Given the description of an element on the screen output the (x, y) to click on. 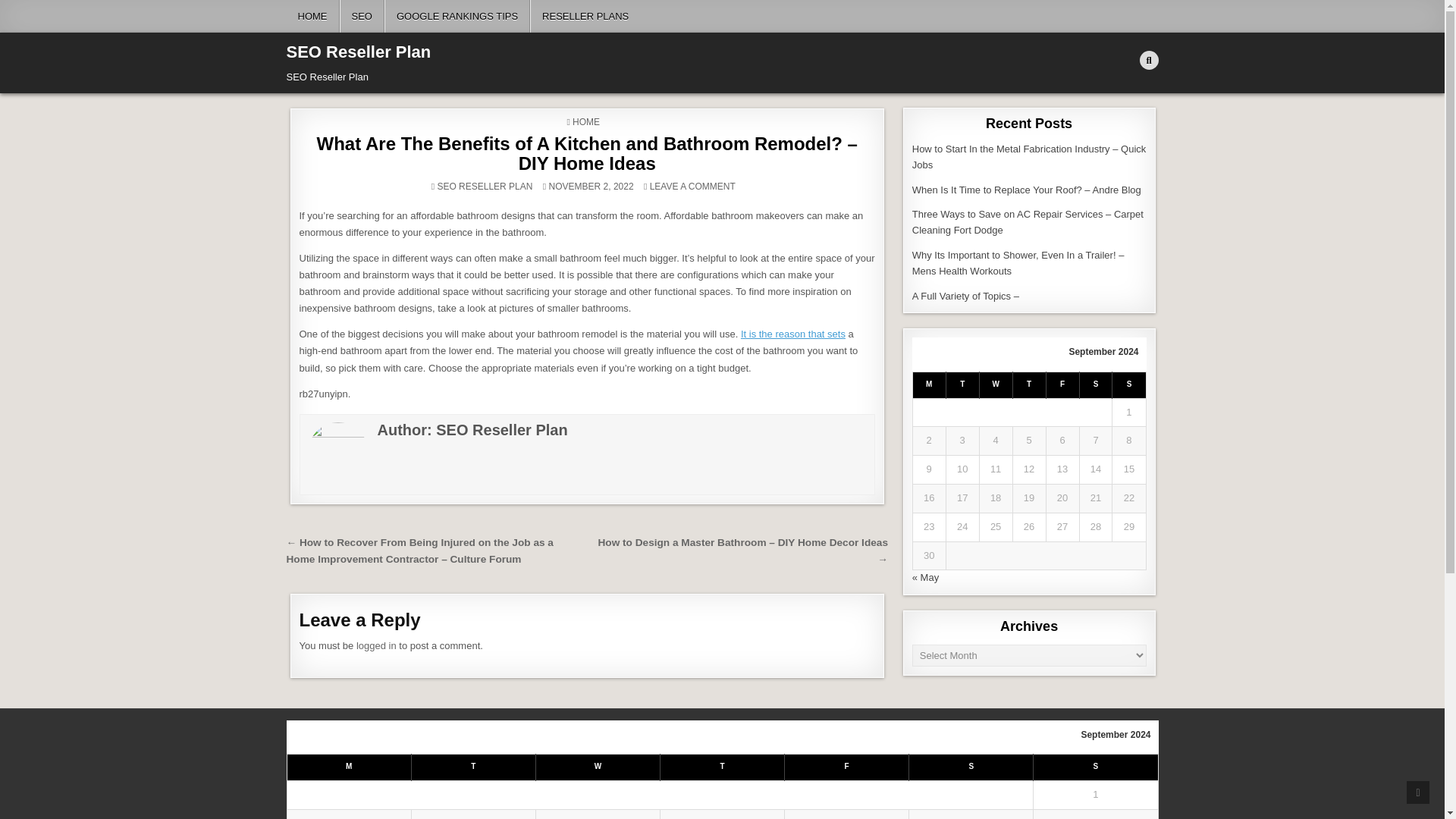
Monday (348, 766)
Friday (1061, 384)
Sunday (1128, 384)
Wednesday (994, 384)
logged in (376, 645)
Monday (928, 384)
GOOGLE RANKINGS TIPS (456, 16)
It is the reason that sets (793, 333)
Saturday (1095, 384)
Tuesday (472, 766)
